Given the description of an element on the screen output the (x, y) to click on. 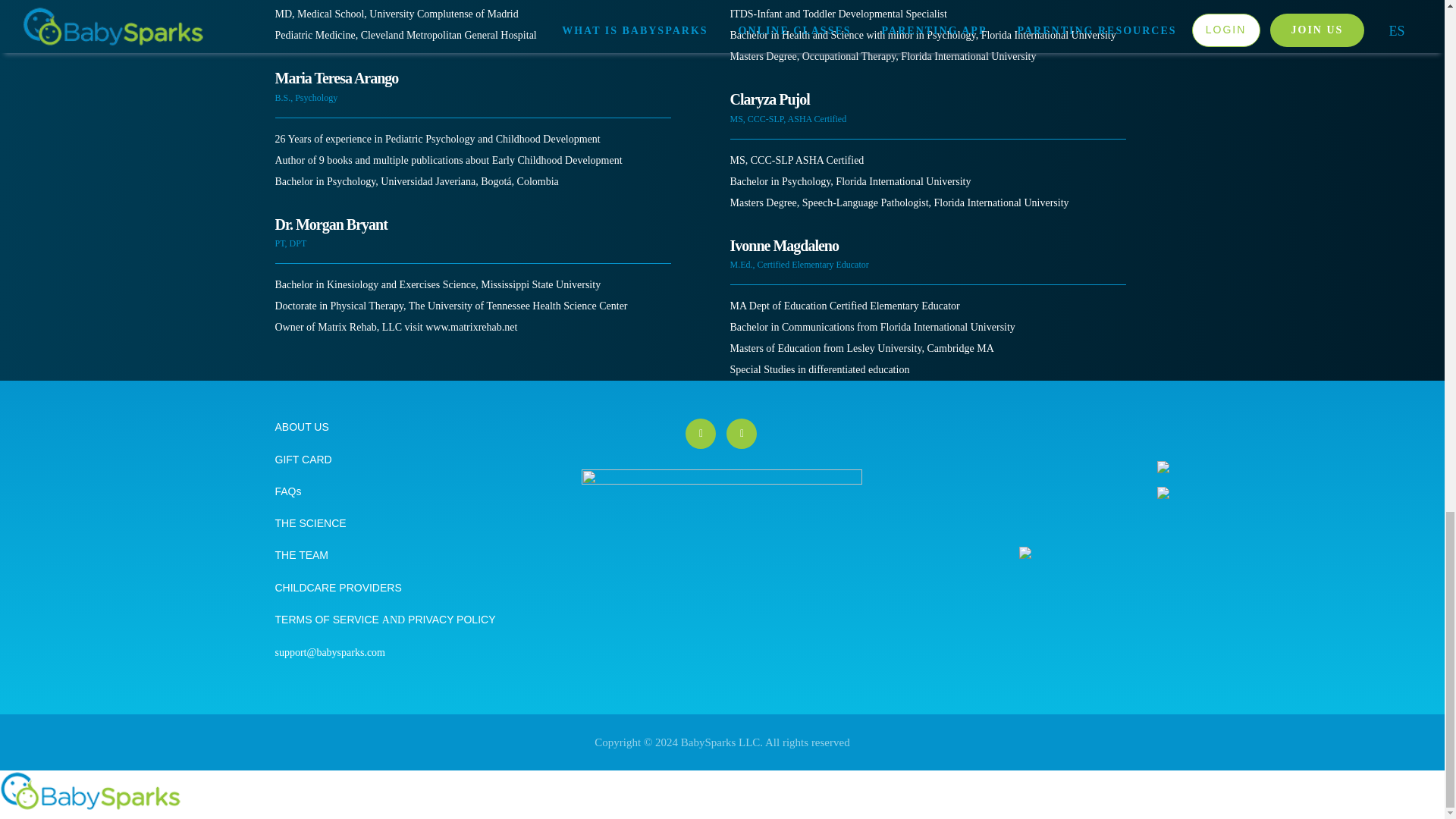
PRIVACY POLICY (449, 619)
ABOUT US (302, 426)
THE SCIENCE (310, 522)
GIFT CARD (303, 459)
CHILDCARE PROVIDERS (338, 587)
TERMS OF SERVICE (328, 619)
THE TEAM (302, 554)
FAQs (288, 491)
